Given the description of an element on the screen output the (x, y) to click on. 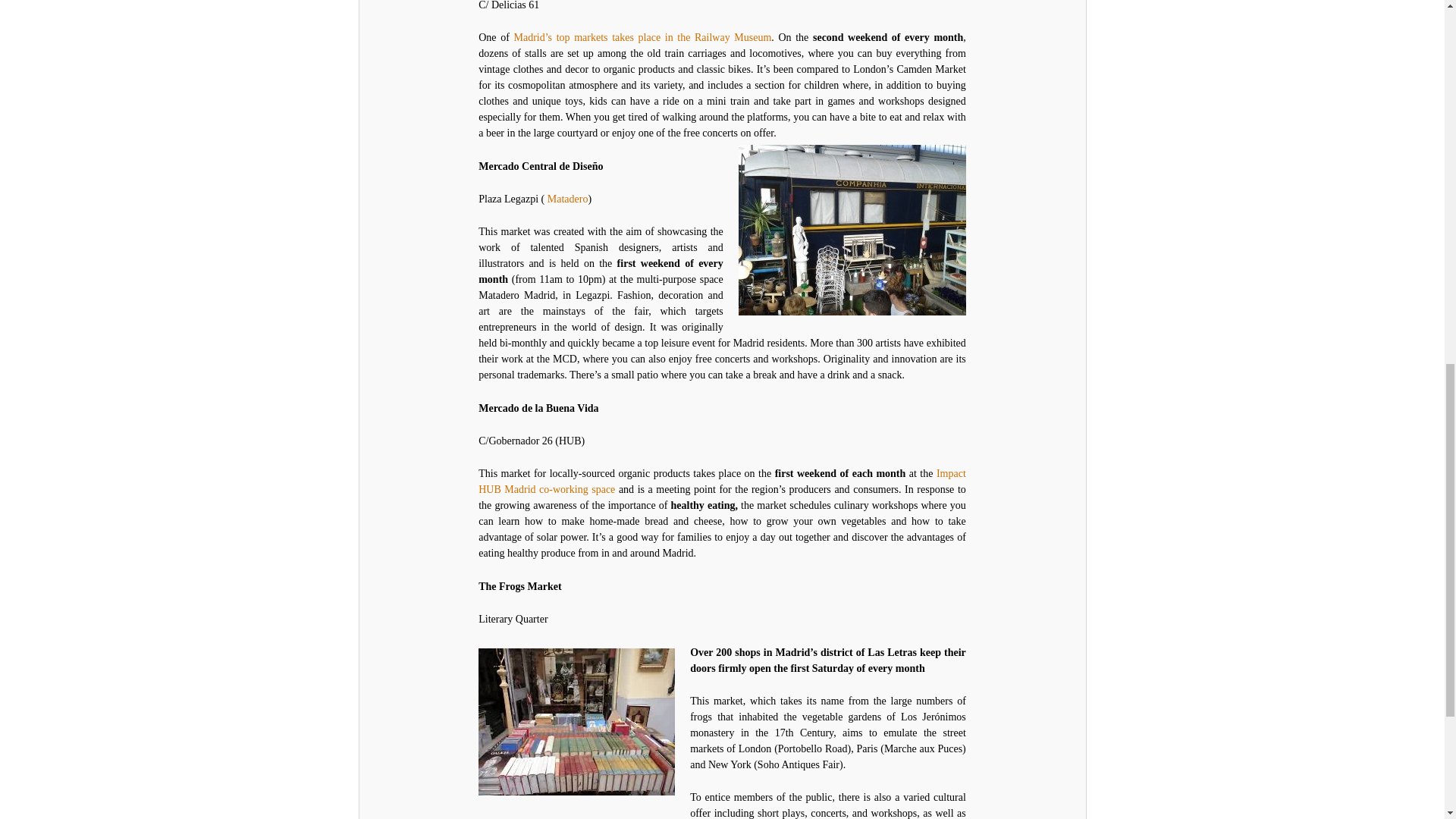
Impact HUB Madrid co-working space (722, 481)
Matadero (567, 198)
